Given the description of an element on the screen output the (x, y) to click on. 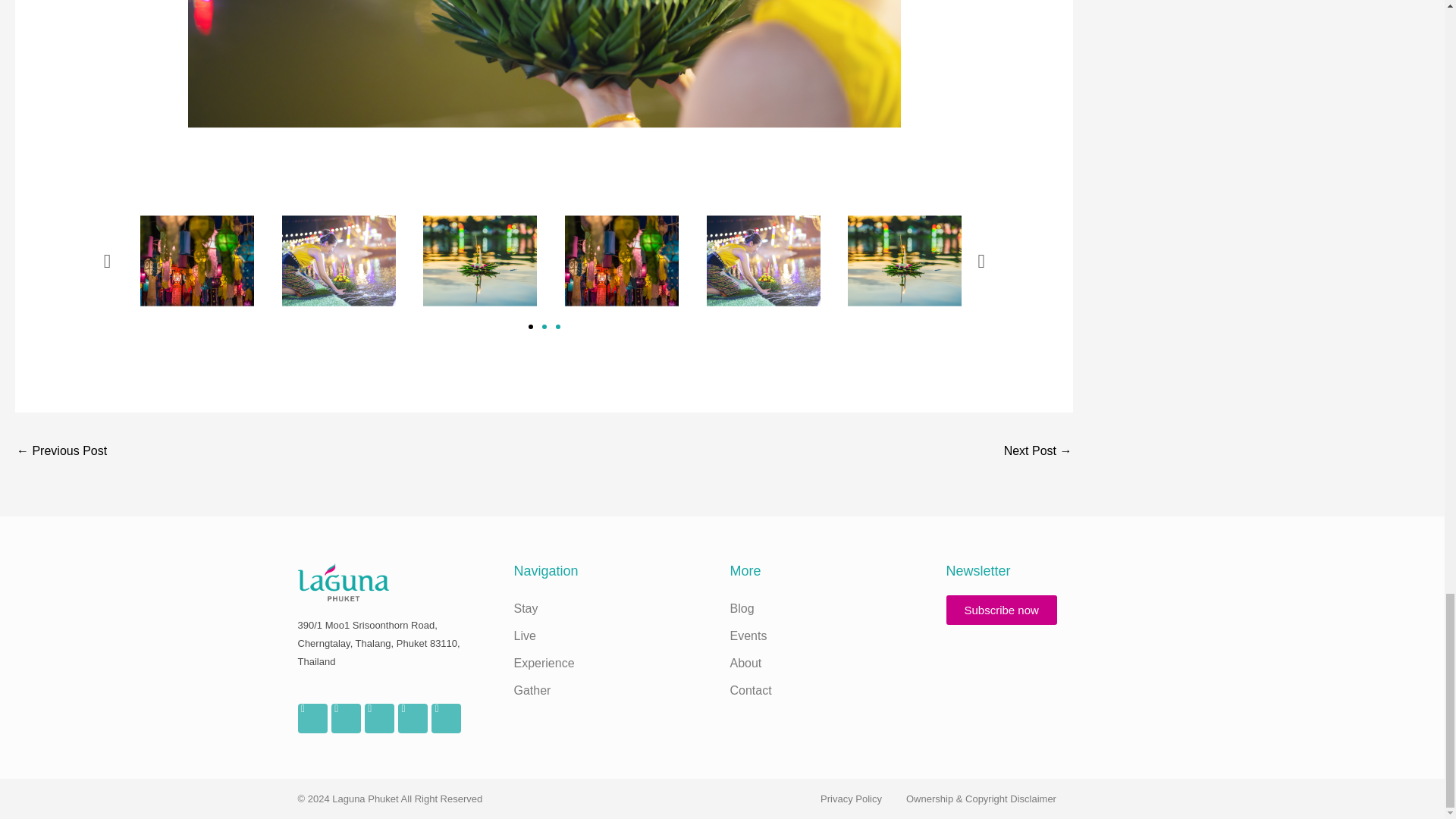
Laguna Phuket Triathlon 2023 (1037, 452)
Phuket Vegetarian Festival 2023 (61, 452)
